Given the description of an element on the screen output the (x, y) to click on. 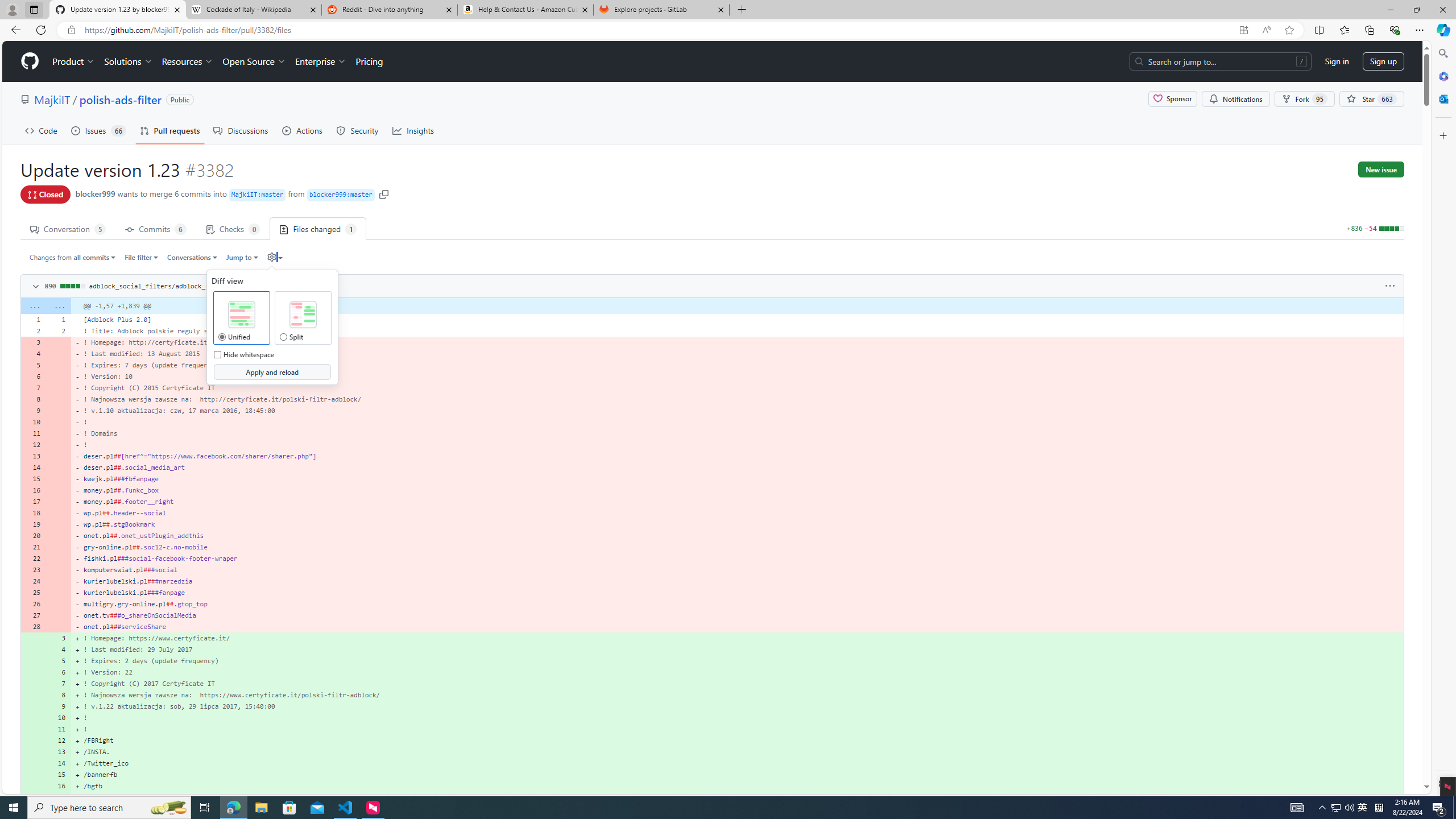
- ! Version: 10 (737, 376)
- ! Homepage: http://certyficate.it/ (737, 342)
Pricing (368, 60)
- kurierlubelski.pl###narzedzia (737, 581)
8 (58, 695)
MajkiIT : master (257, 195)
- komputerswiat.pl###social (737, 569)
Security (357, 130)
Diff settings (271, 256)
13 (58, 751)
 Files changed 1 (317, 228)
Fork 95 (1304, 98)
